Given the description of an element on the screen output the (x, y) to click on. 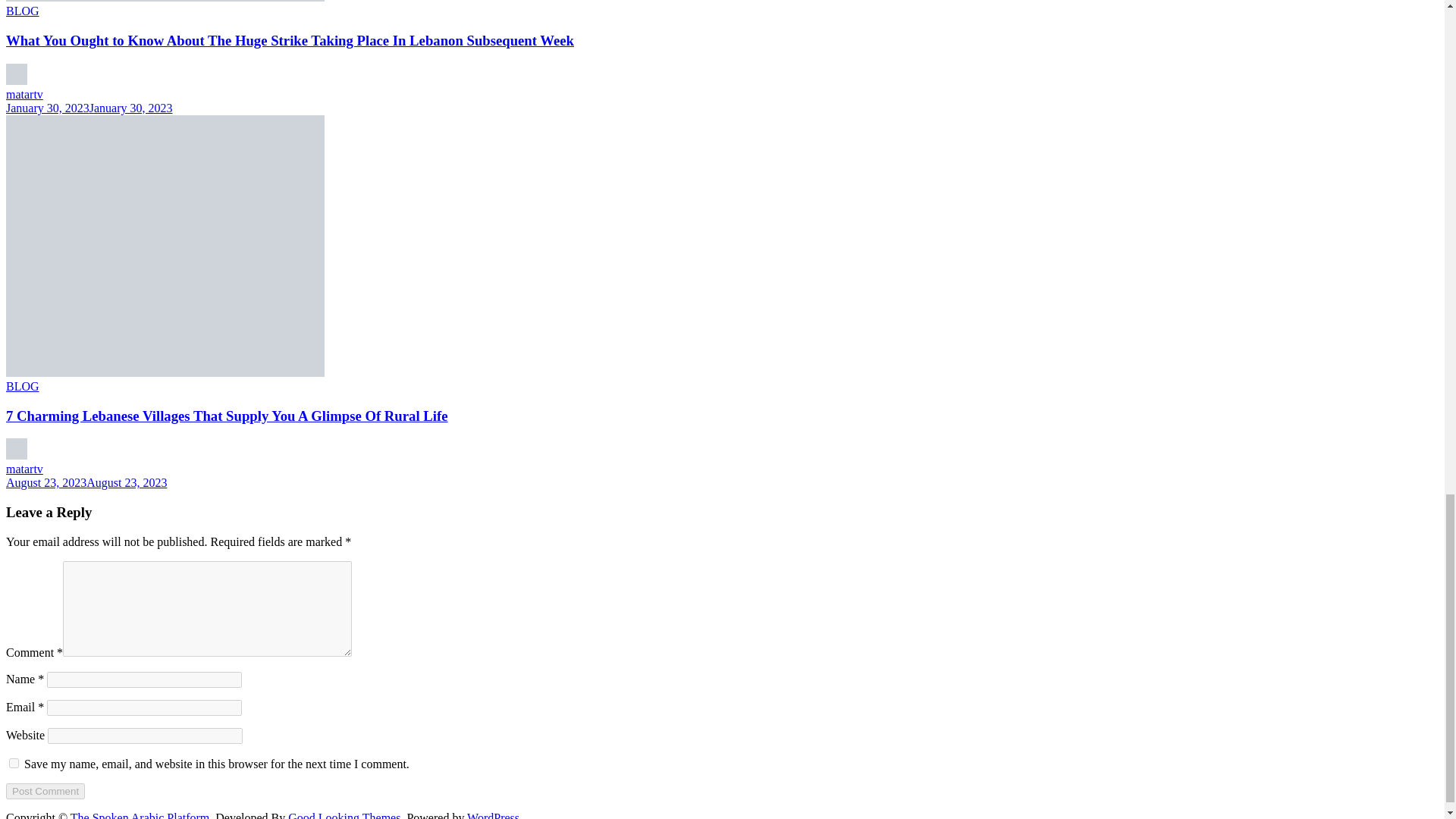
BLOG (22, 10)
Post Comment (44, 790)
Post Comment (44, 790)
matartv (24, 93)
yes (13, 763)
BLOG (22, 386)
January 30, 2023January 30, 2023 (89, 107)
matartv (24, 468)
August 23, 2023August 23, 2023 (86, 481)
